Given the description of an element on the screen output the (x, y) to click on. 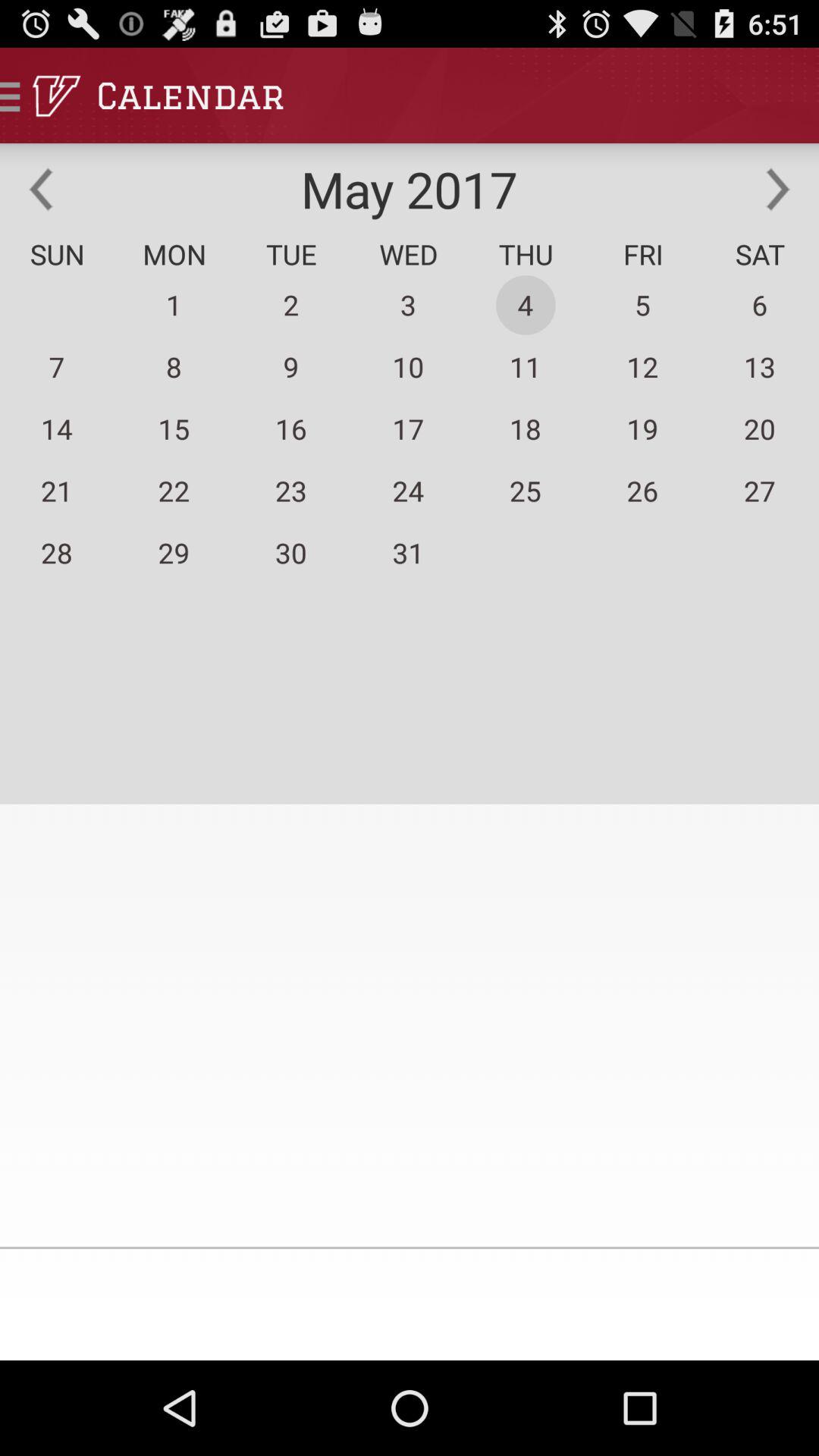
go to earlier month (40, 189)
